Given the description of an element on the screen output the (x, y) to click on. 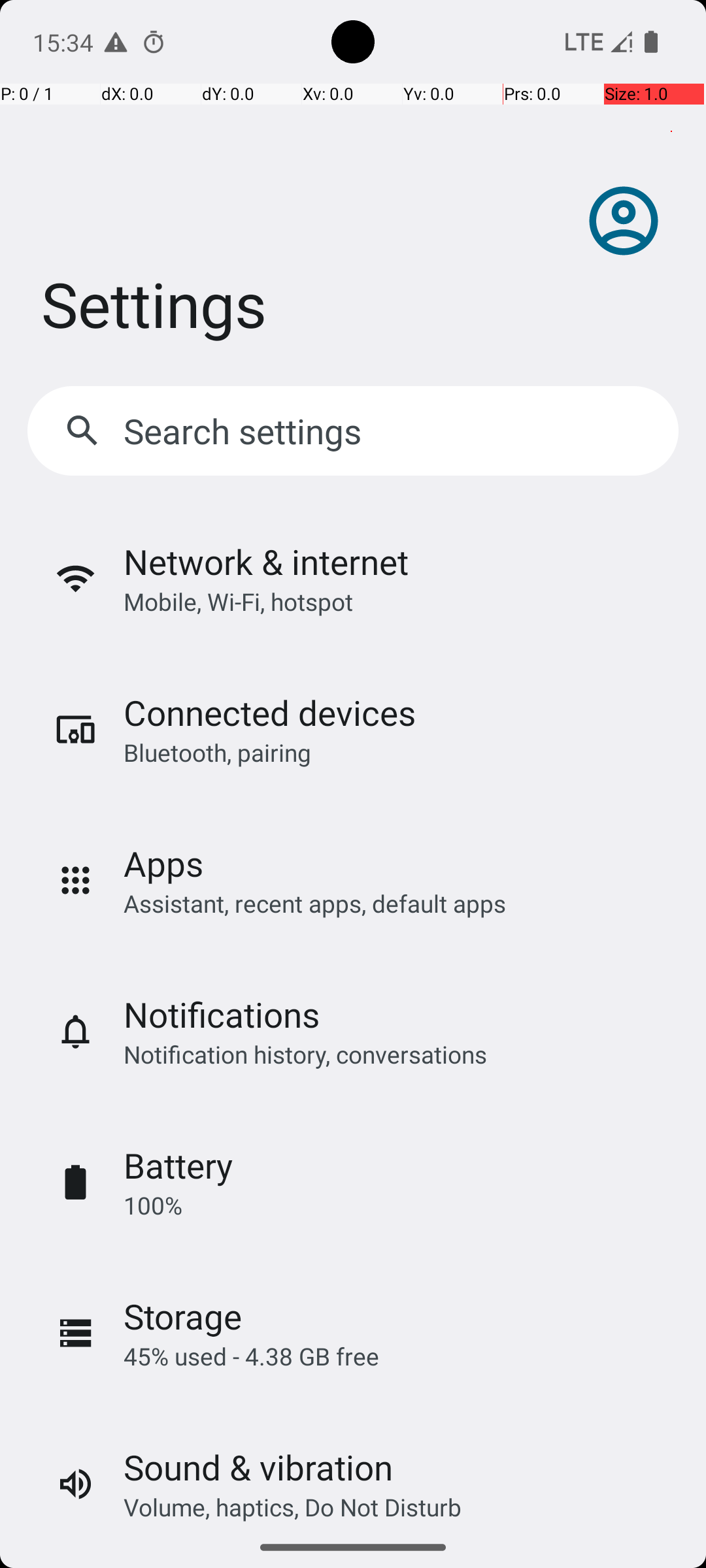
45% used - 4.38 GB free Element type: android.widget.TextView (251, 1355)
